Given the description of an element on the screen output the (x, y) to click on. 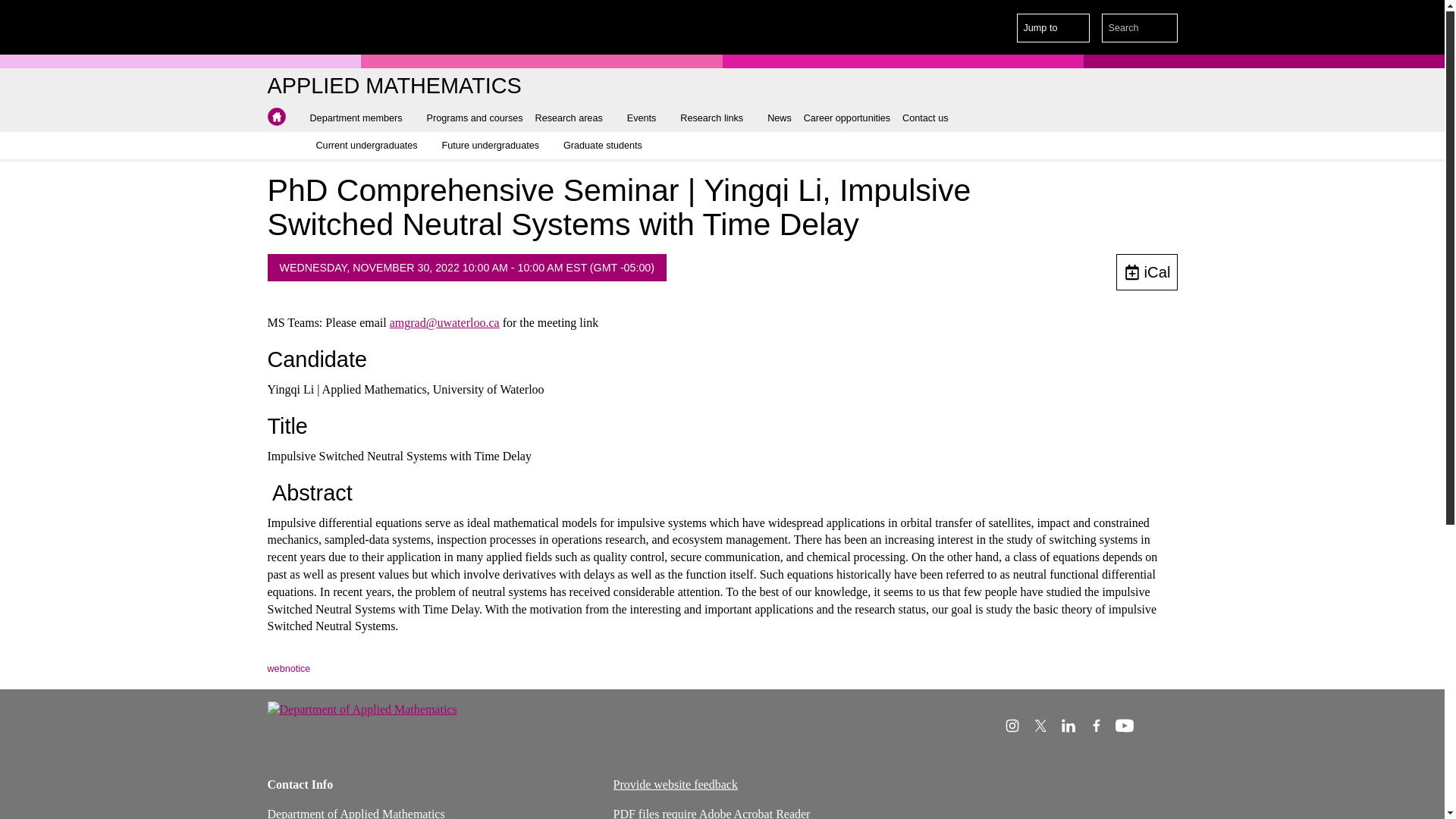
Jump to (1053, 27)
Applied Mathematics Home (393, 85)
Applied Mathematics Home (275, 116)
Research areas (575, 117)
University of Waterloo Home (331, 27)
Applied Mathematics Home (275, 116)
Events (648, 117)
Search (1163, 27)
Search (1163, 27)
APPLIED MATHEMATICS (393, 85)
